Given the description of an element on the screen output the (x, y) to click on. 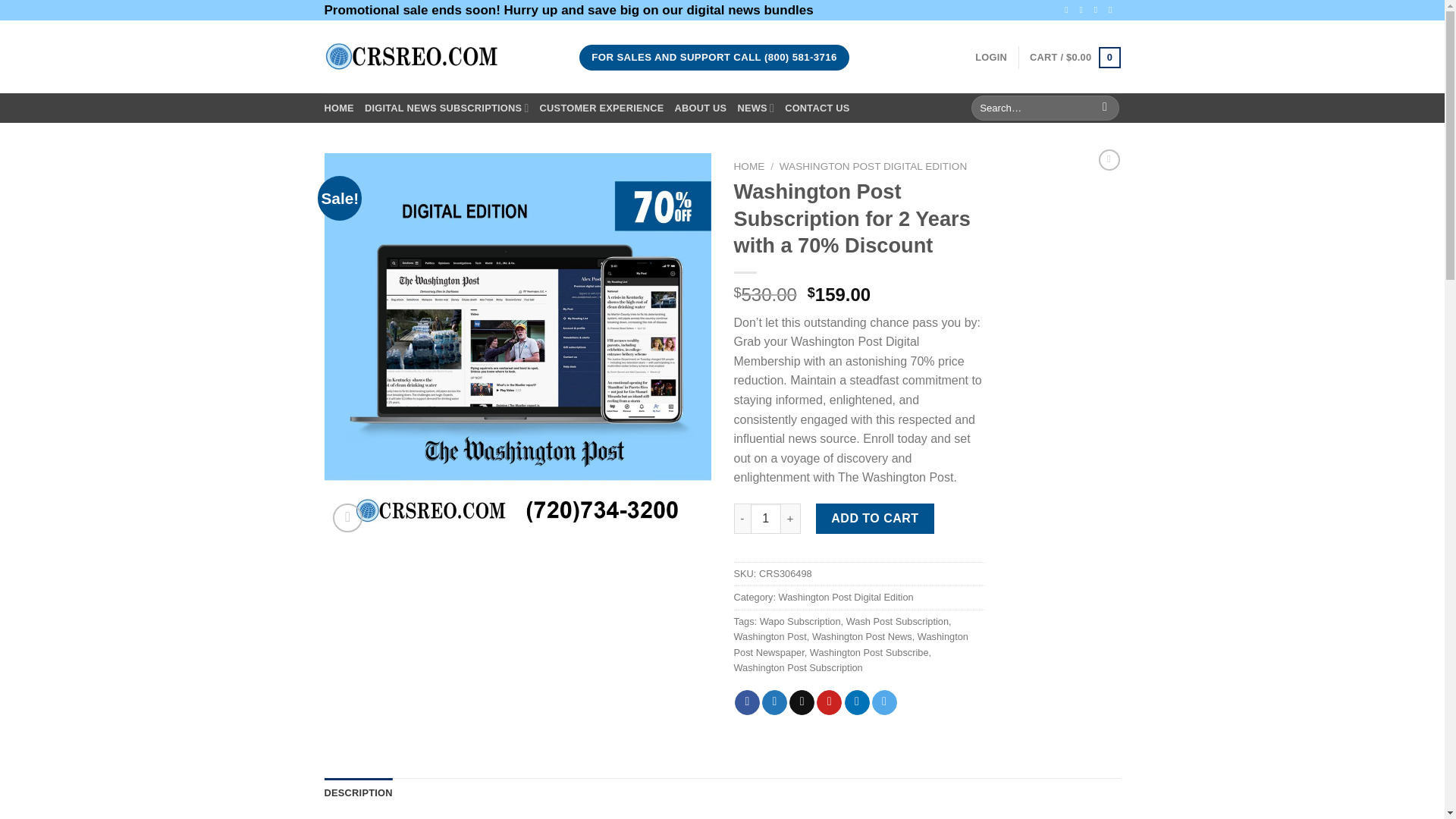
Pin on Pinterest (828, 702)
Cart (1074, 57)
CUSTOMER EXPERIENCE (601, 108)
1 (765, 518)
NEWS (755, 107)
ABOUT US (700, 108)
Share on Telegram (884, 702)
Share on LinkedIn (856, 702)
Share on Facebook (747, 702)
Share on Twitter (774, 702)
